Given the description of an element on the screen output the (x, y) to click on. 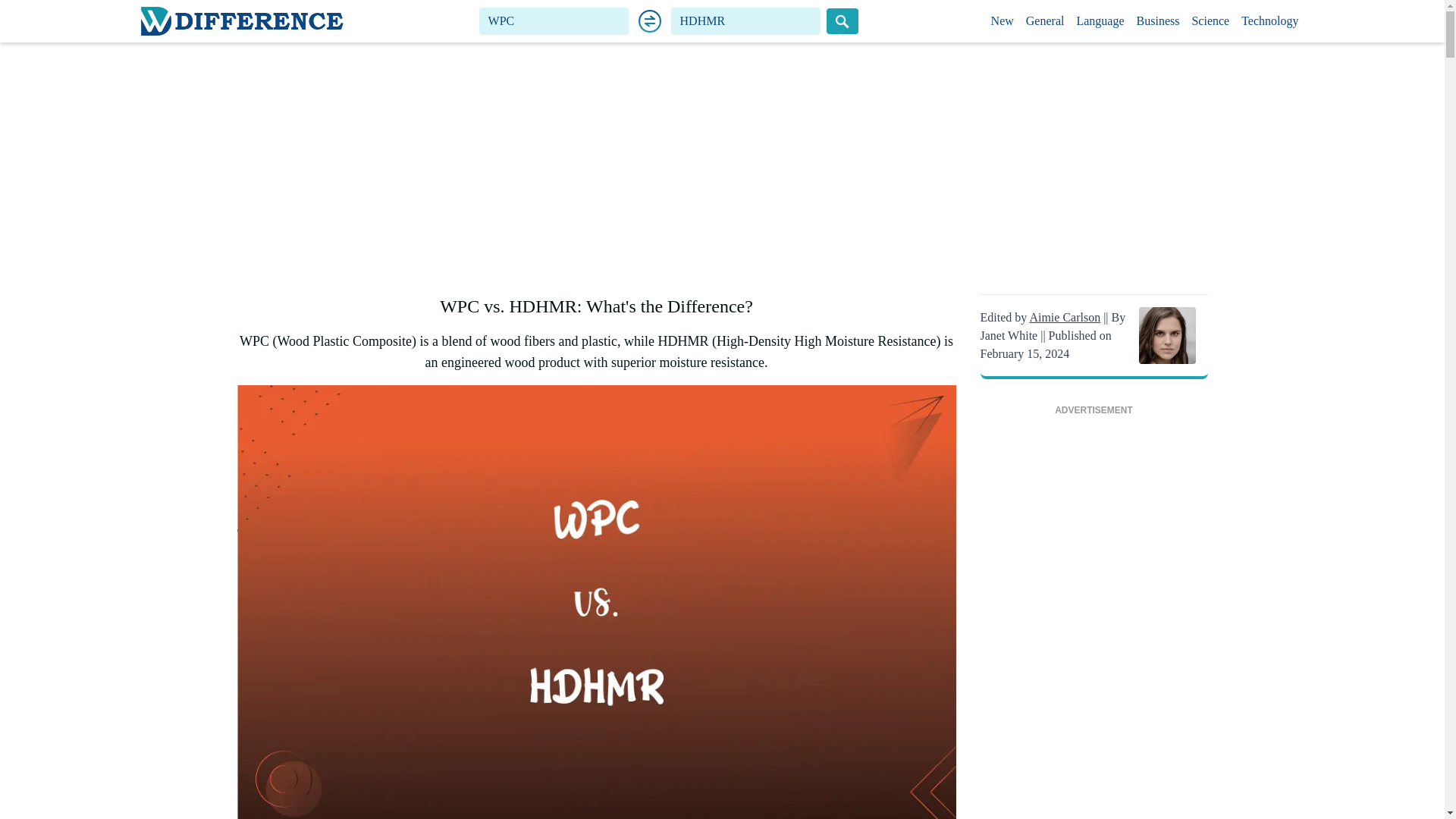
Science (1209, 21)
General (1045, 21)
HDHMR (746, 21)
New (1002, 21)
Technology (1269, 21)
Business (1158, 21)
WPC (553, 21)
Language (1099, 21)
